Given the description of an element on the screen output the (x, y) to click on. 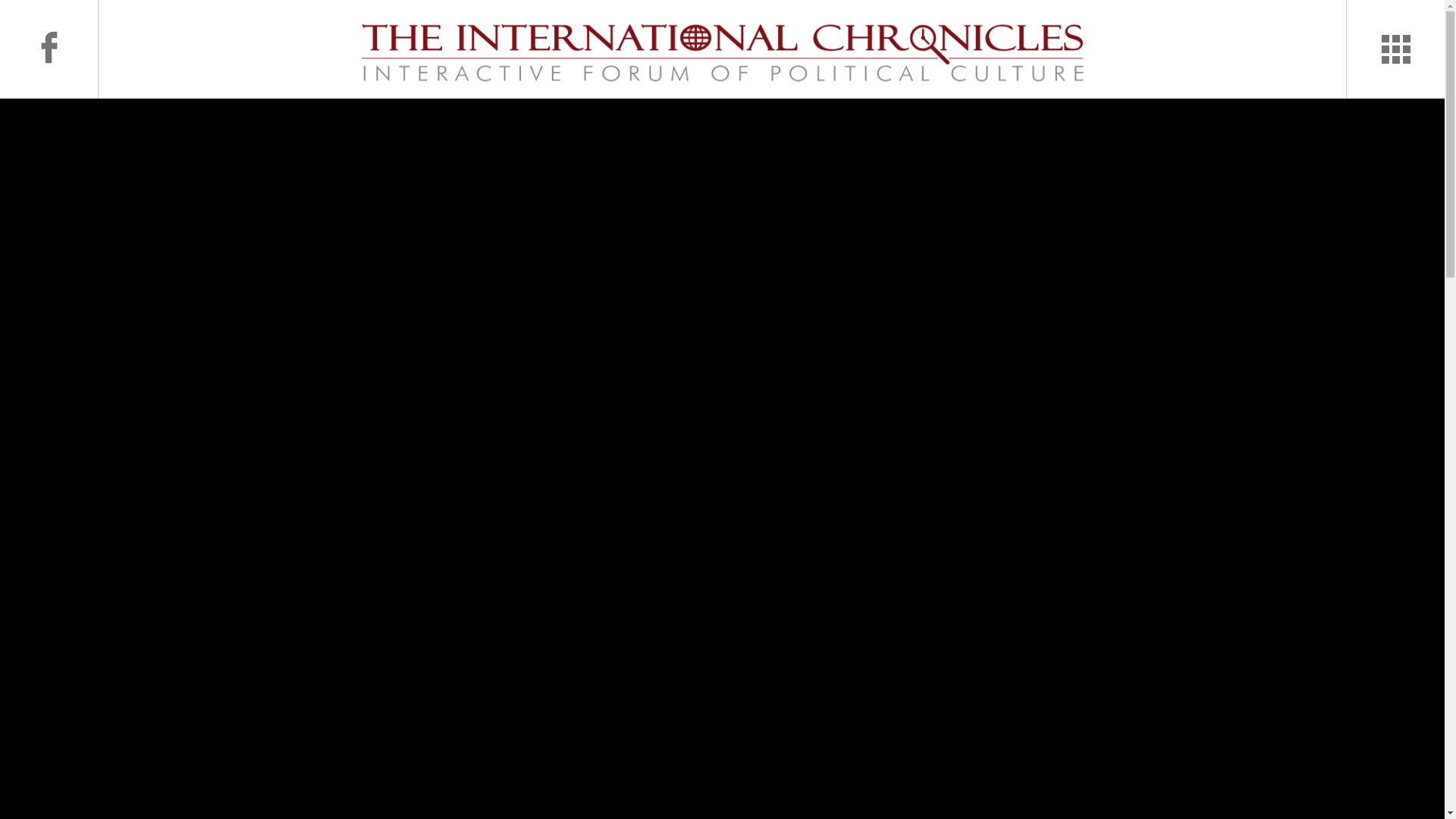
THE INTERNATIONAL CHRONICLES (294, 106)
